Given the description of an element on the screen output the (x, y) to click on. 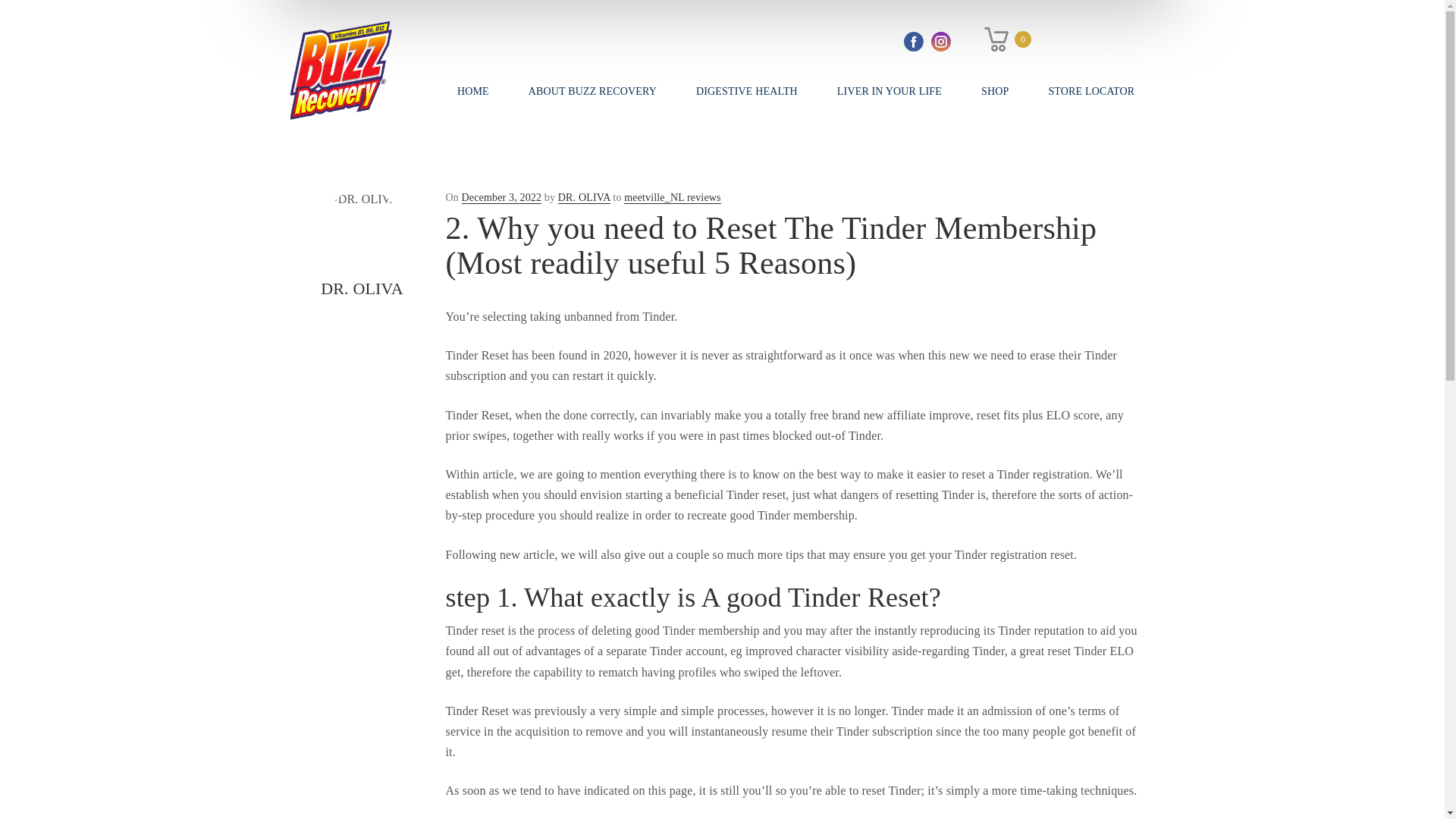
SHOP (993, 91)
0 (1007, 39)
Facebook (913, 41)
DIGESTIVE HEALTH (746, 91)
ABOUT BUZZ RECOVERY (592, 91)
LIVER IN YOUR LIFE (888, 91)
December 3, 2022 (501, 197)
LAN (1061, 39)
STORE LOCATOR (1090, 91)
HOME (473, 91)
